Given the description of an element on the screen output the (x, y) to click on. 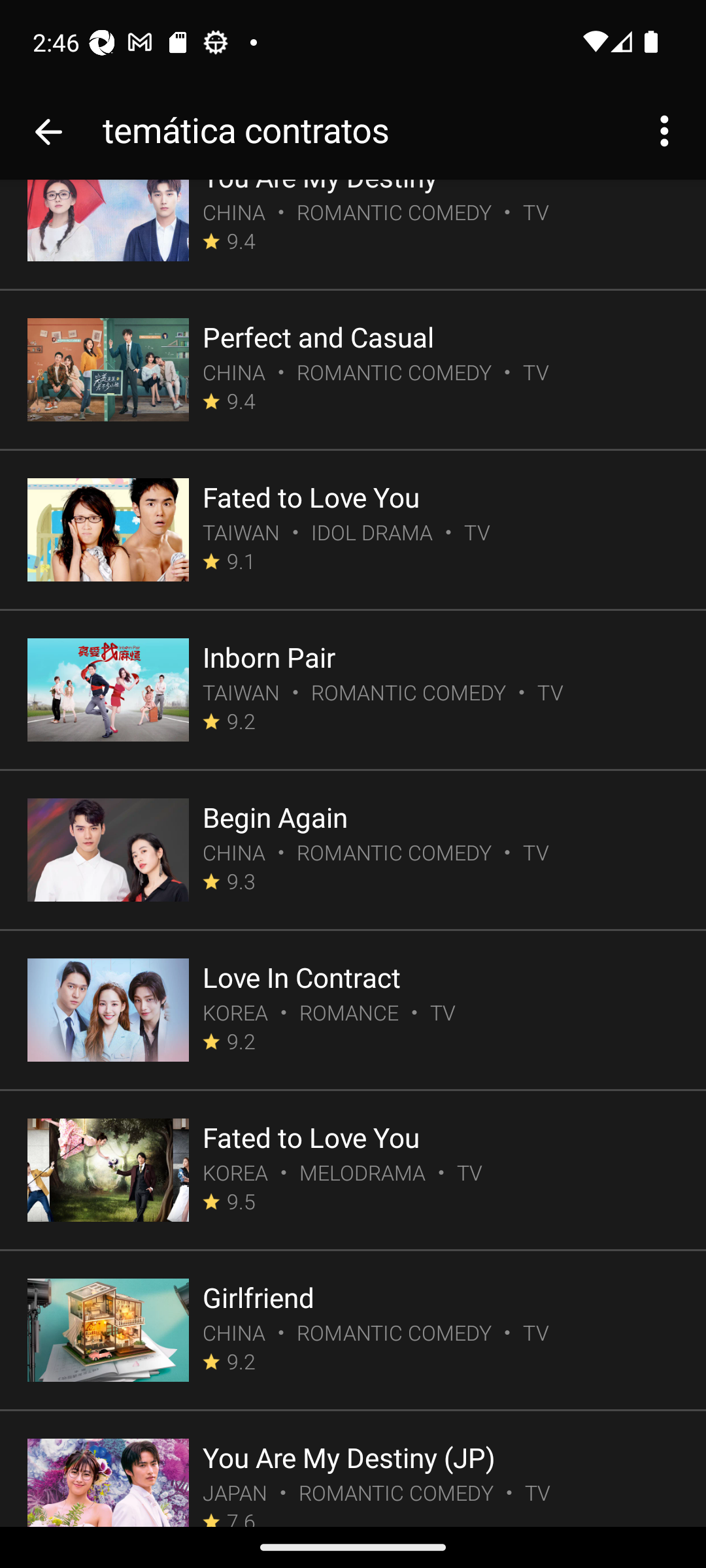
close_button (48, 131)
Settings (664, 131)
Fated to Love You TAIWAN ・ IDOL DRAMA ・ TV 9.1 (353, 531)
Inborn Pair TAIWAN ・ ROMANTIC COMEDY ・ TV 9.2 (353, 691)
Begin Again CHINA ・ ROMANTIC COMEDY ・ TV 9.3 (353, 851)
Love In Contract KOREA ・ ROMANCE ・ TV 9.2 (353, 1011)
Fated to Love You KOREA ・ MELODRAMA ・ TV 9.5 (353, 1171)
Girlfriend CHINA ・ ROMANTIC COMEDY ・ TV 9.2 (353, 1331)
